Given the description of an element on the screen output the (x, y) to click on. 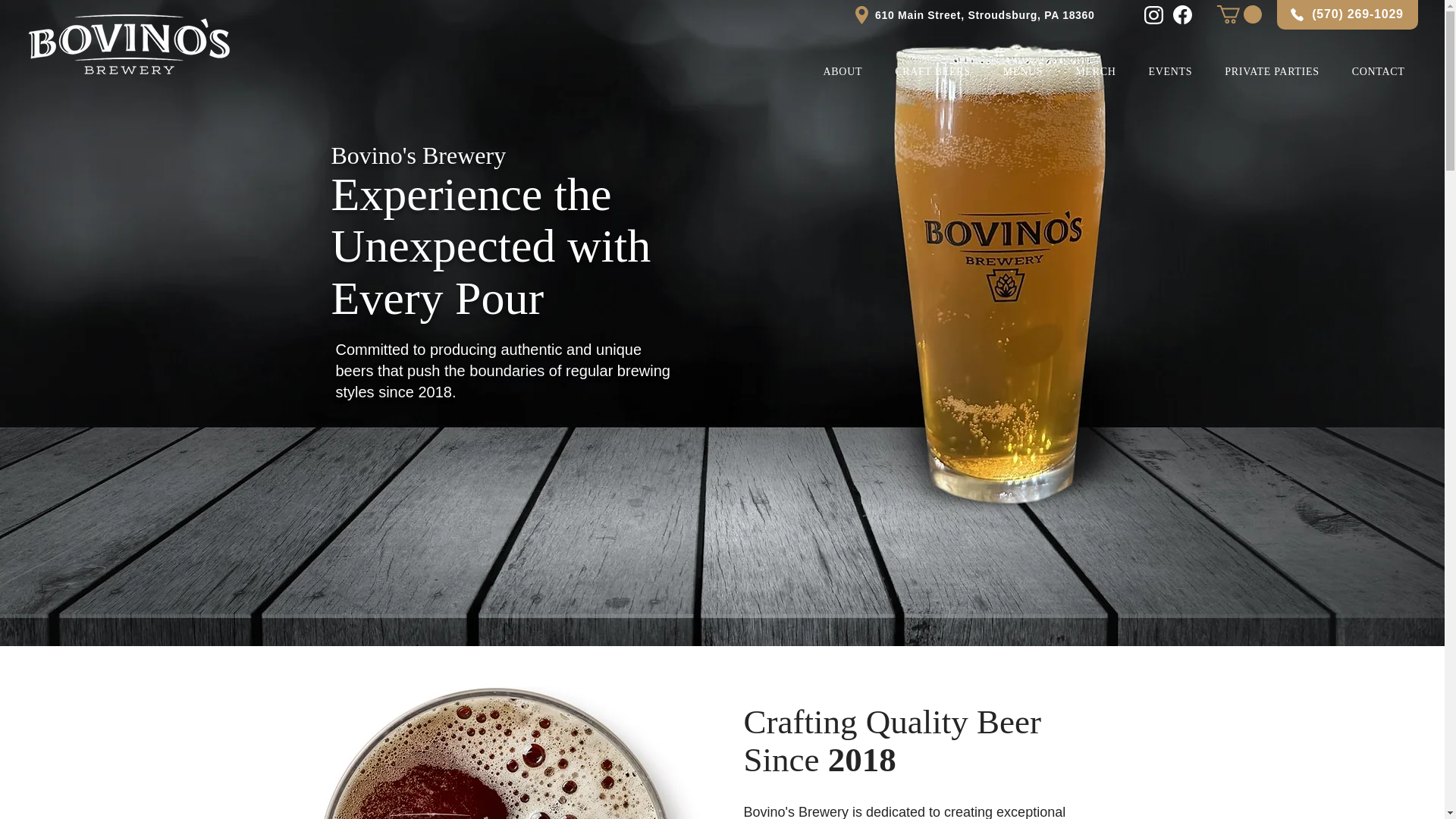
MERCH (1095, 71)
CRAFT BEERS (933, 71)
ABOUT (842, 71)
MENUS (1022, 71)
CONTACT (1378, 71)
610 Main Street, Stroudsburg, PA 18360 (984, 15)
PRIVATE PARTIES (1271, 71)
EVENTS (1170, 71)
